Given the description of an element on the screen output the (x, y) to click on. 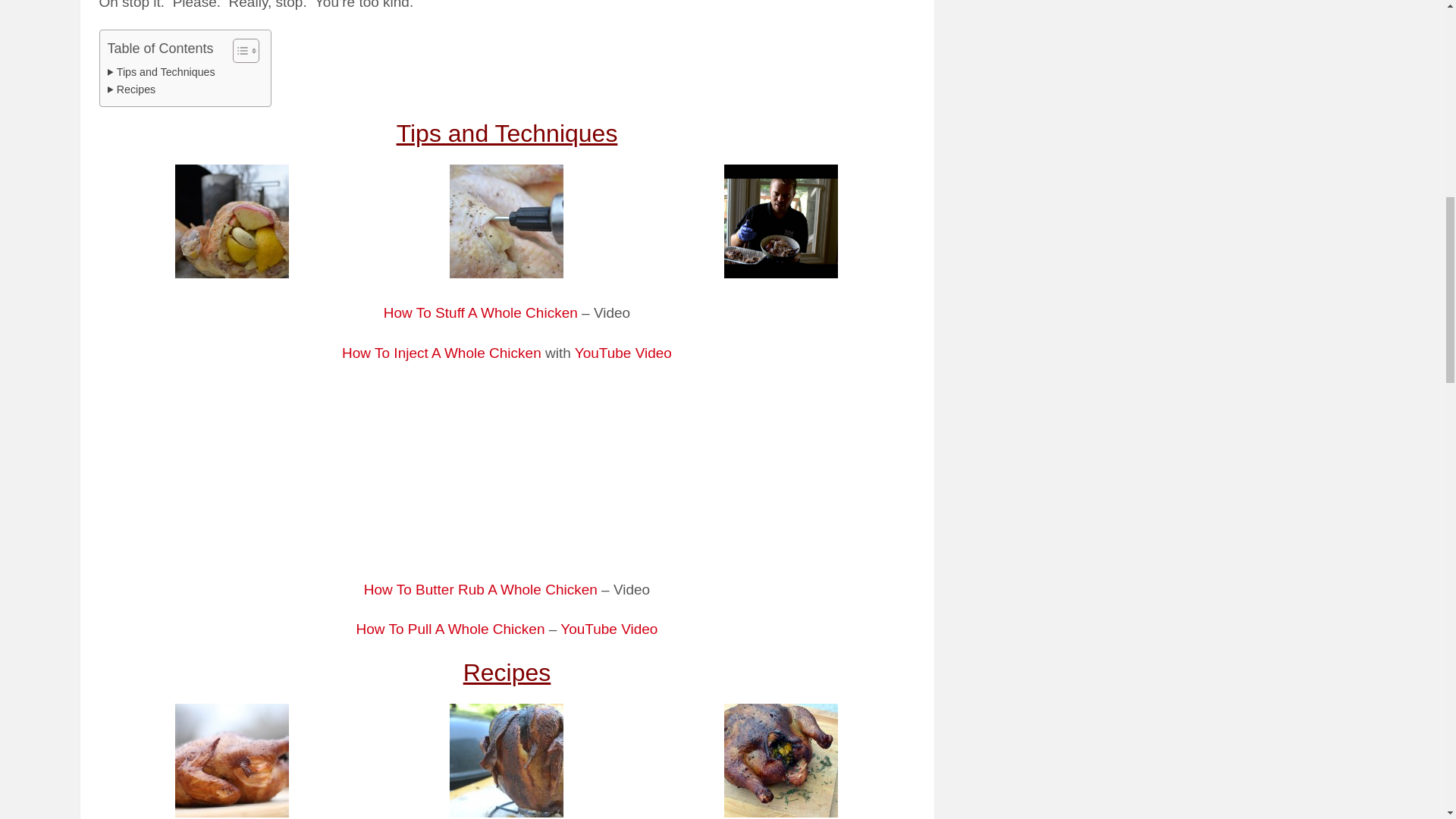
YouTube Video (623, 352)
Recipes (131, 89)
Recipes (131, 89)
Tips and Techniques (161, 72)
How To Inject A Whole Chicken (441, 352)
How To Stuff A Whole Chicken (481, 312)
Tips and Techniques (161, 72)
